Given the description of an element on the screen output the (x, y) to click on. 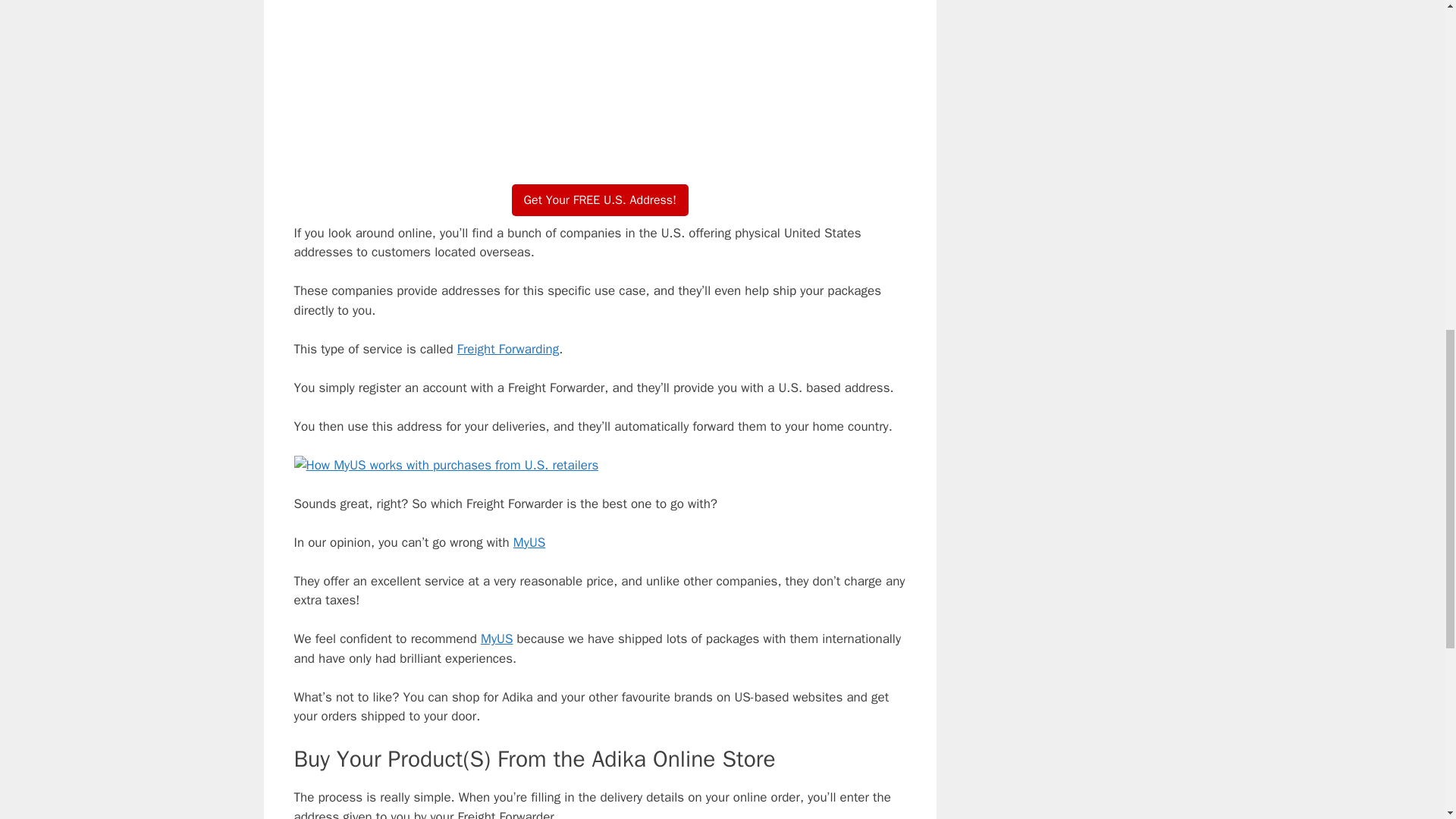
MyUS (496, 638)
Get Your FREE U.S. Address! (600, 199)
MyUS.com: How it Works (600, 79)
MyUS (528, 541)
Freight Forwarding (508, 349)
